Given the description of an element on the screen output the (x, y) to click on. 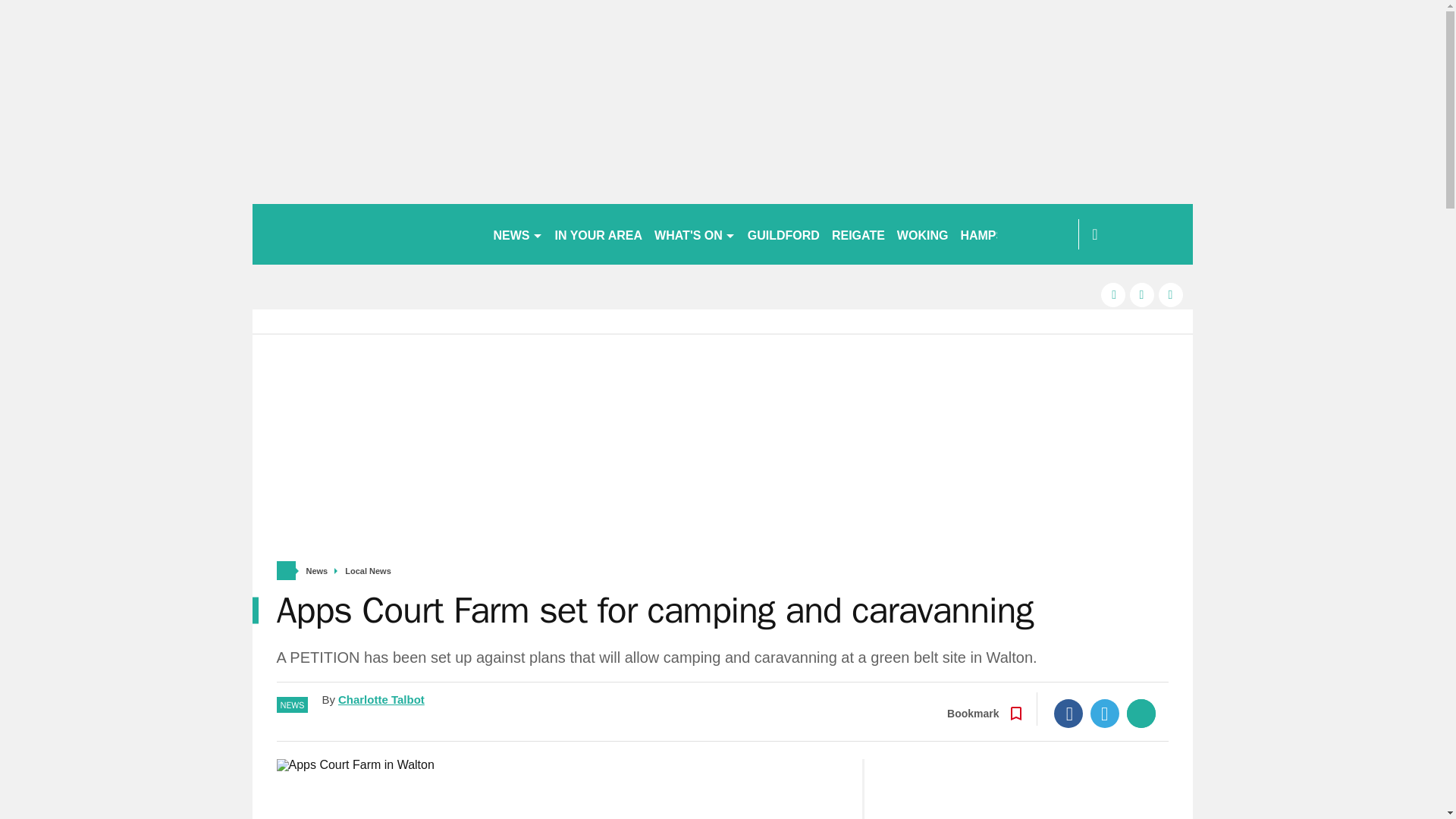
WOKING (923, 233)
instagram (1170, 294)
getsurrey (365, 233)
Facebook (1068, 713)
facebook (1112, 294)
REIGATE (858, 233)
WHAT'S ON (694, 233)
HAMPSHIRE (996, 233)
IN YOUR AREA (598, 233)
Twitter (1104, 713)
